Given the description of an element on the screen output the (x, y) to click on. 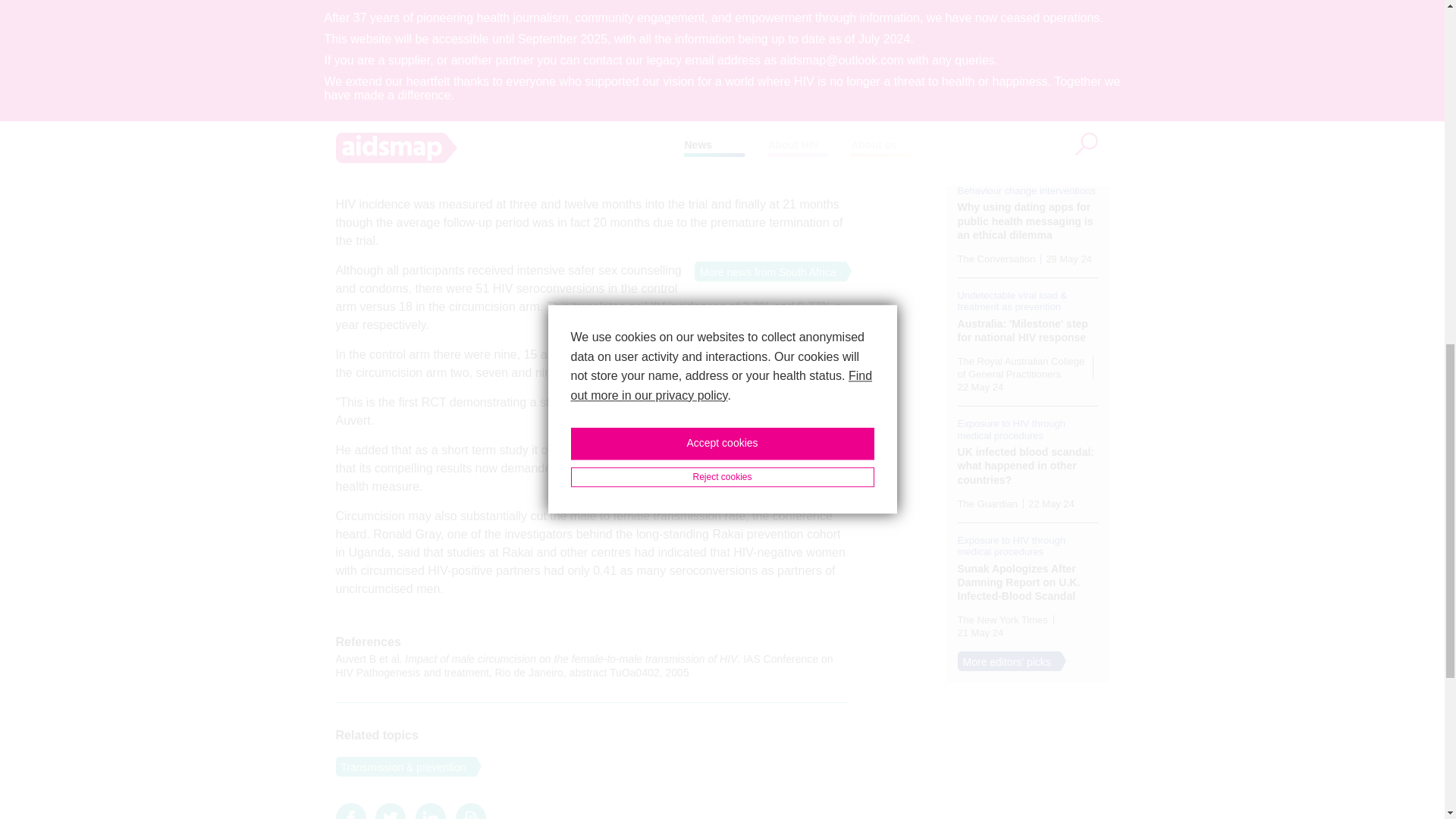
Find out more in our About HIV pages (743, 55)
More news from South Africa (764, 271)
Twitter (390, 814)
LinkedIn (429, 814)
Print (470, 814)
Facebook (349, 814)
